Given the description of an element on the screen output the (x, y) to click on. 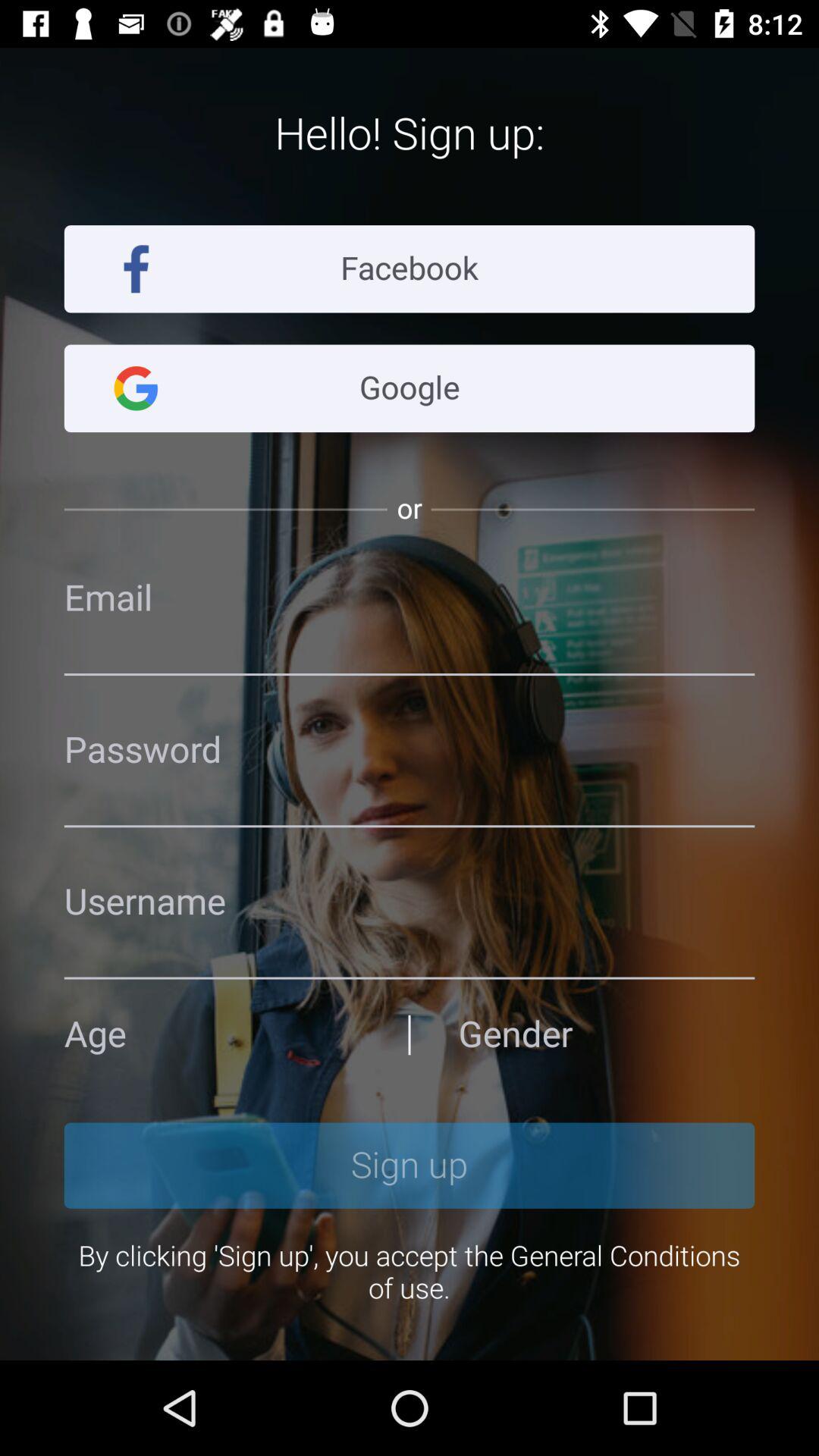
select your gender (606, 1034)
